Given the description of an element on the screen output the (x, y) to click on. 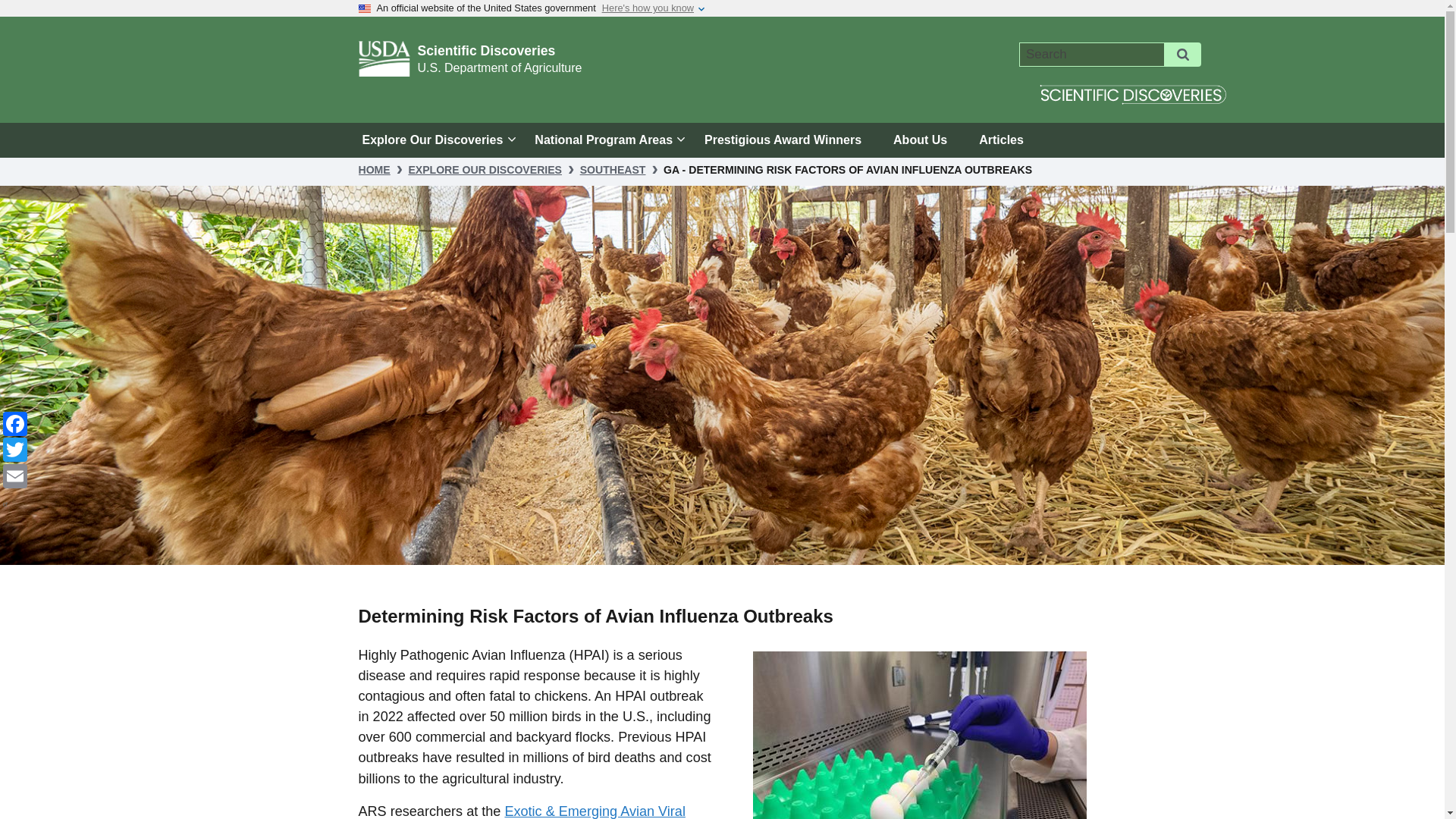
Articles (1001, 140)
HOME (374, 169)
D3118 1AI (919, 735)
Scientific Discoveries (485, 50)
Here's how you know (648, 8)
U.S. Department of Agriculture (498, 67)
Search (1182, 54)
Search (1182, 54)
SOUTHEAST (612, 169)
Twitter (15, 448)
